Given the description of an element on the screen output the (x, y) to click on. 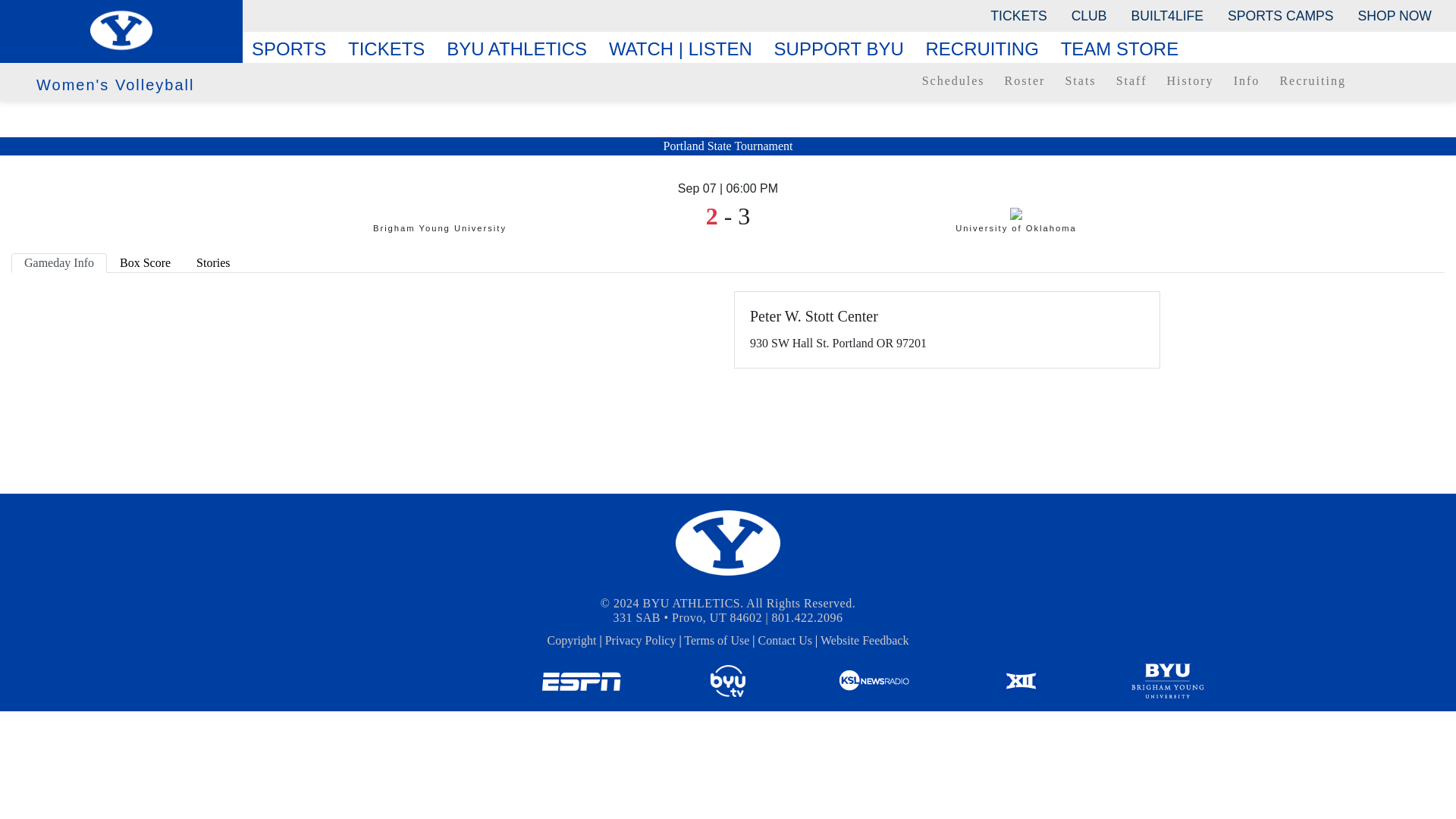
SPORTS CAMPS (1280, 15)
TICKETS (1018, 15)
BUILT4LIFE (1167, 15)
SPORTS (294, 49)
SHOP NOW (1394, 15)
CLUB (1089, 15)
